Given the description of an element on the screen output the (x, y) to click on. 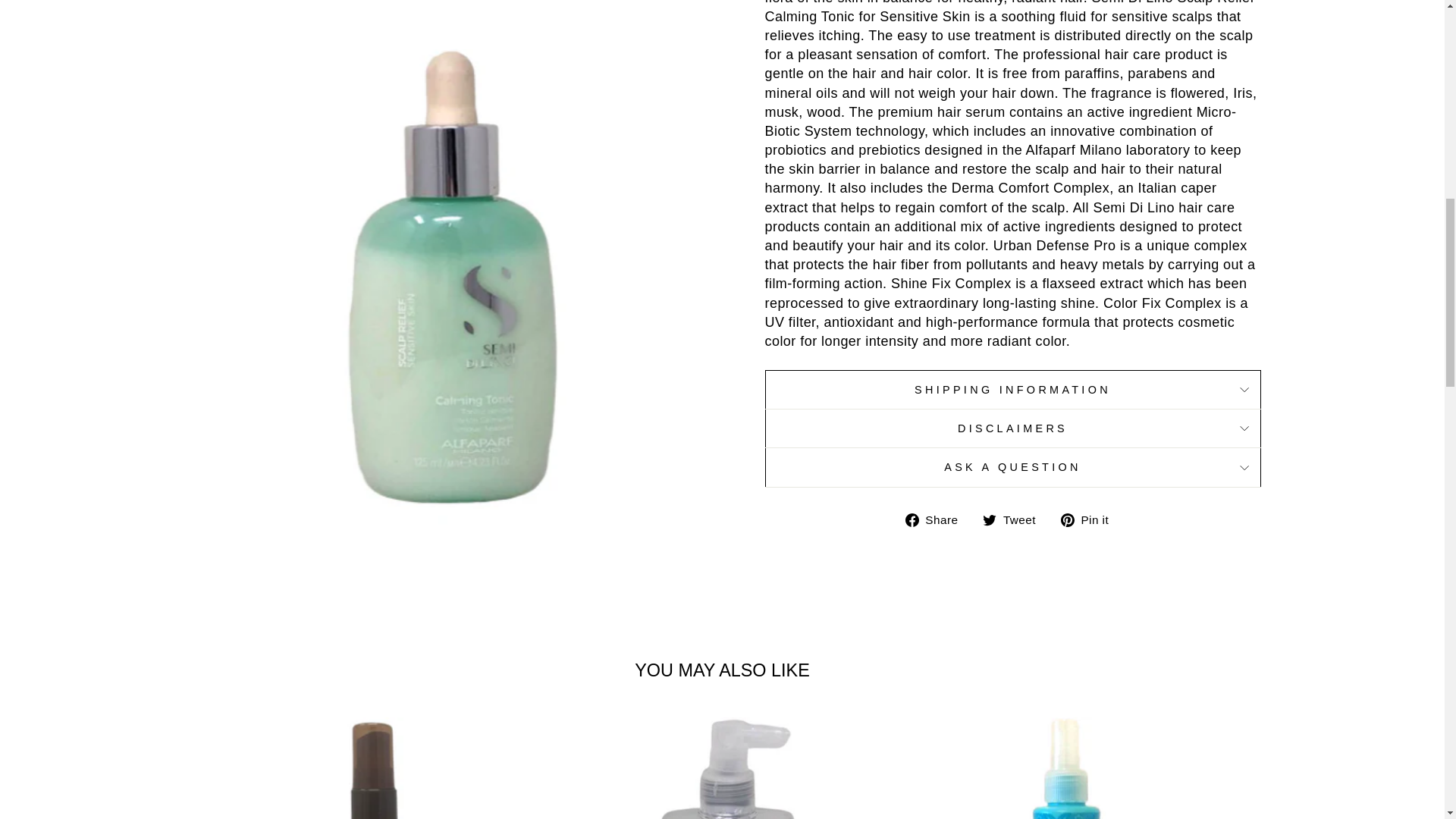
Pin on Pinterest (1090, 519)
Share on Facebook (937, 519)
Tweet on Twitter (1014, 519)
